Given the description of an element on the screen output the (x, y) to click on. 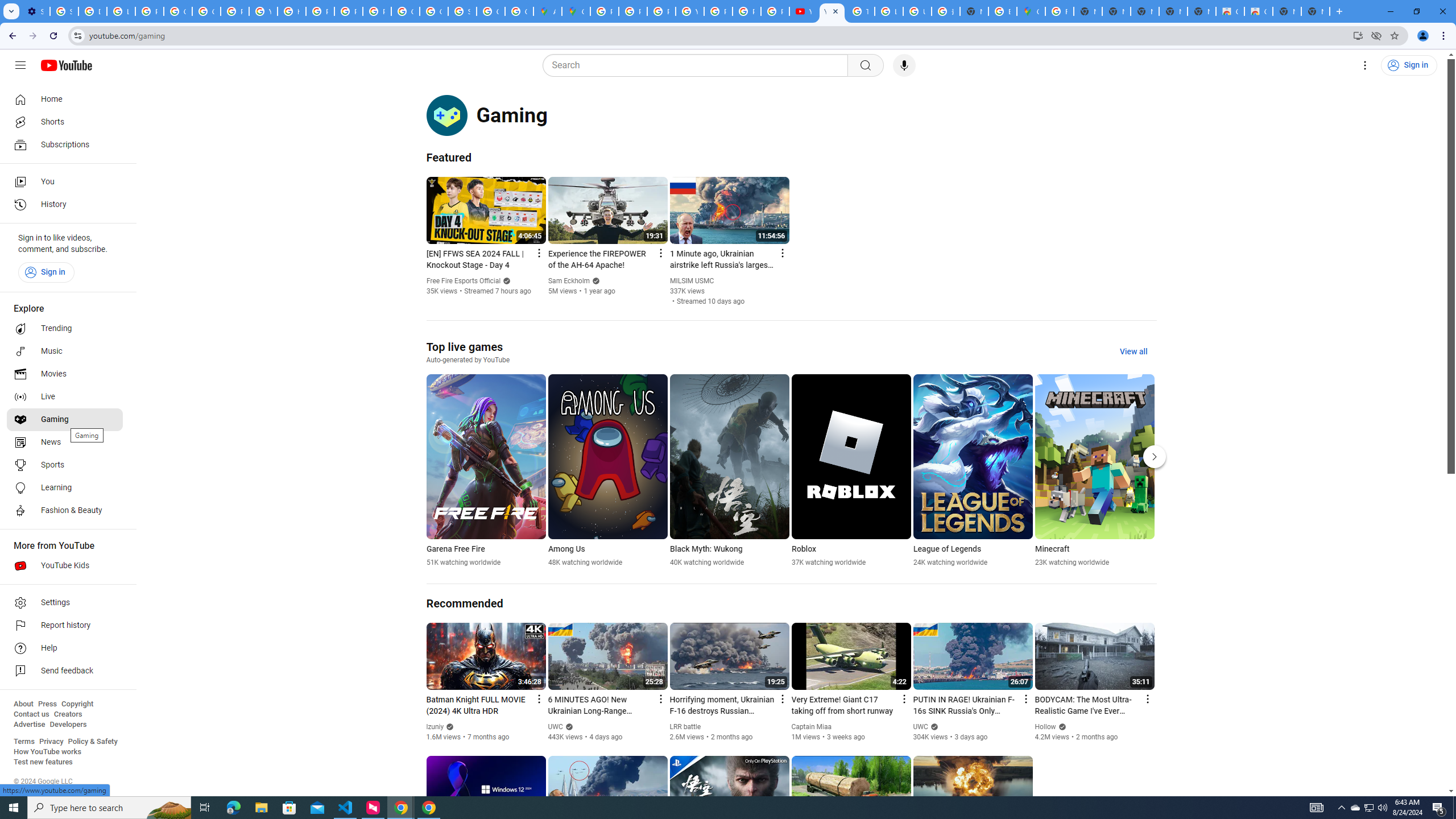
UWC (920, 726)
YouTube (803, 11)
Install YouTube (1358, 35)
YouTube Kids (64, 565)
Sports (64, 464)
Verified (1060, 726)
View all (1133, 351)
League of Legends 24K watching worldwide (972, 470)
Garena Free Fire 51K watching worldwide (486, 470)
